Given the description of an element on the screen output the (x, y) to click on. 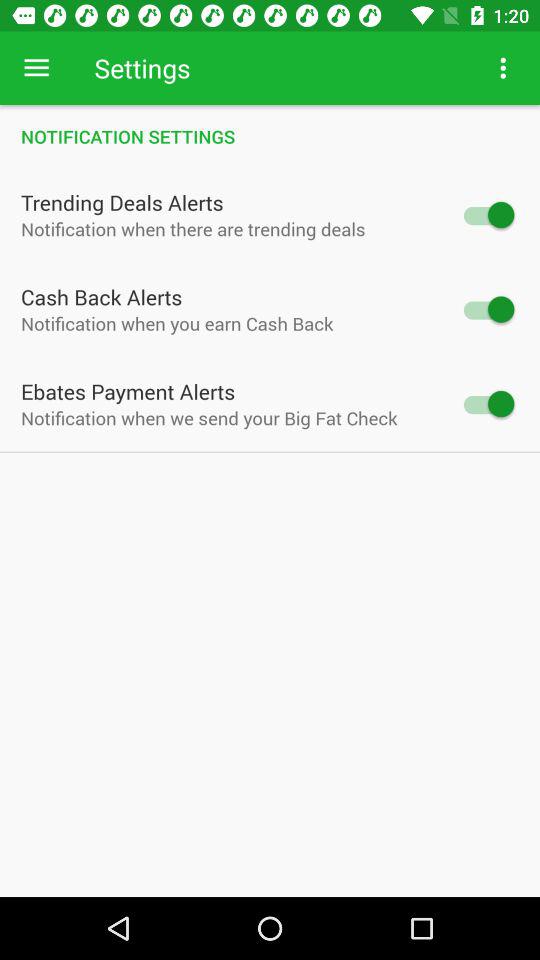
turn off alert (487, 309)
